Given the description of an element on the screen output the (x, y) to click on. 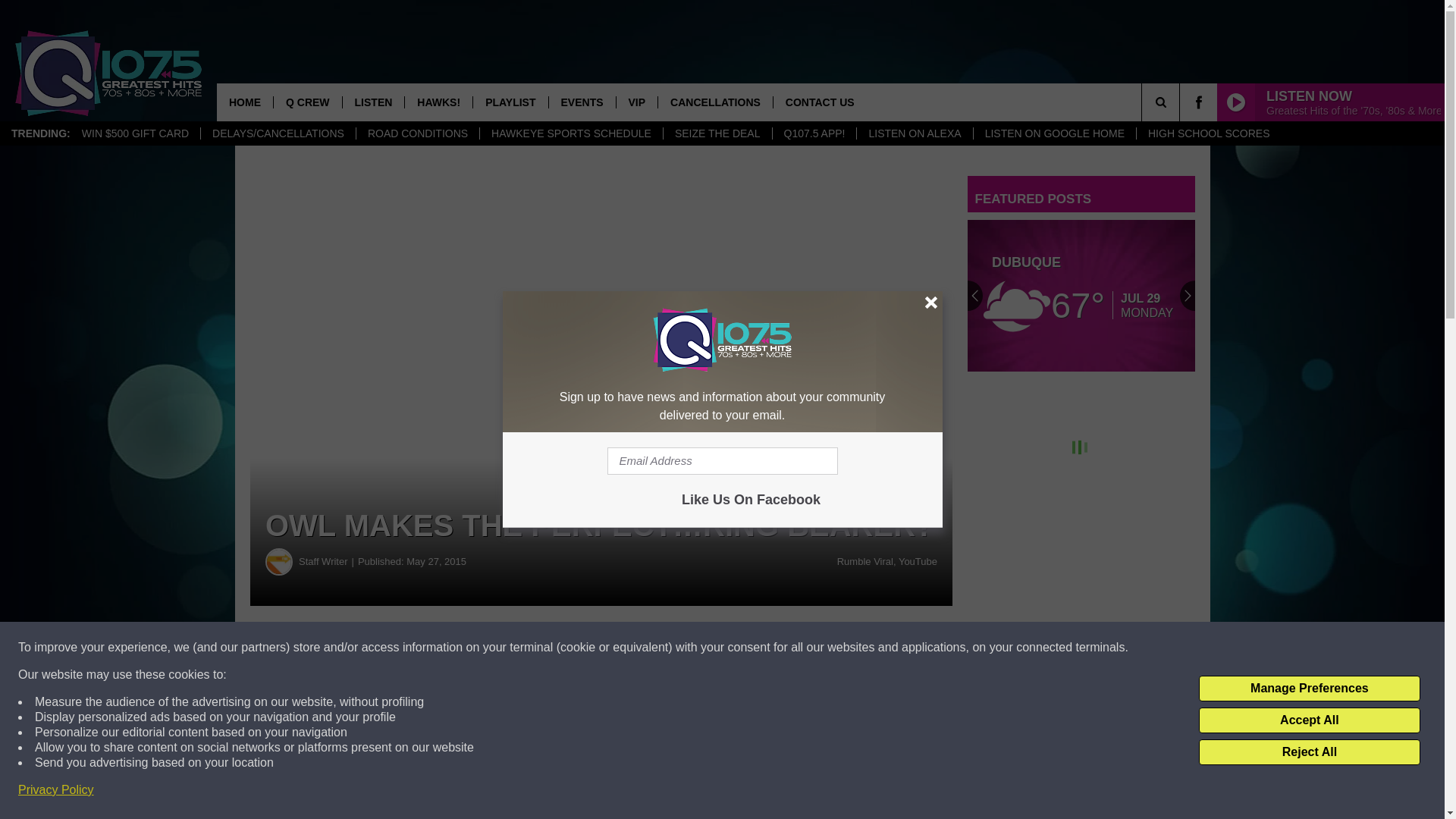
LISTEN ON GOOGLE HOME (1053, 133)
LISTEN (373, 102)
Accept All (1309, 720)
Q107.5 APP! (814, 133)
Share on Facebook (460, 647)
HIGH SCHOOL SCORES (1208, 133)
CANCELLATIONS (715, 102)
PLAYLIST (509, 102)
Q CREW (307, 102)
Privacy Policy (55, 789)
Reject All (1309, 751)
Share on Twitter (741, 647)
HOME (244, 102)
VIP (636, 102)
HAWKEYE SPORTS SCHEDULE (570, 133)
